Given the description of an element on the screen output the (x, y) to click on. 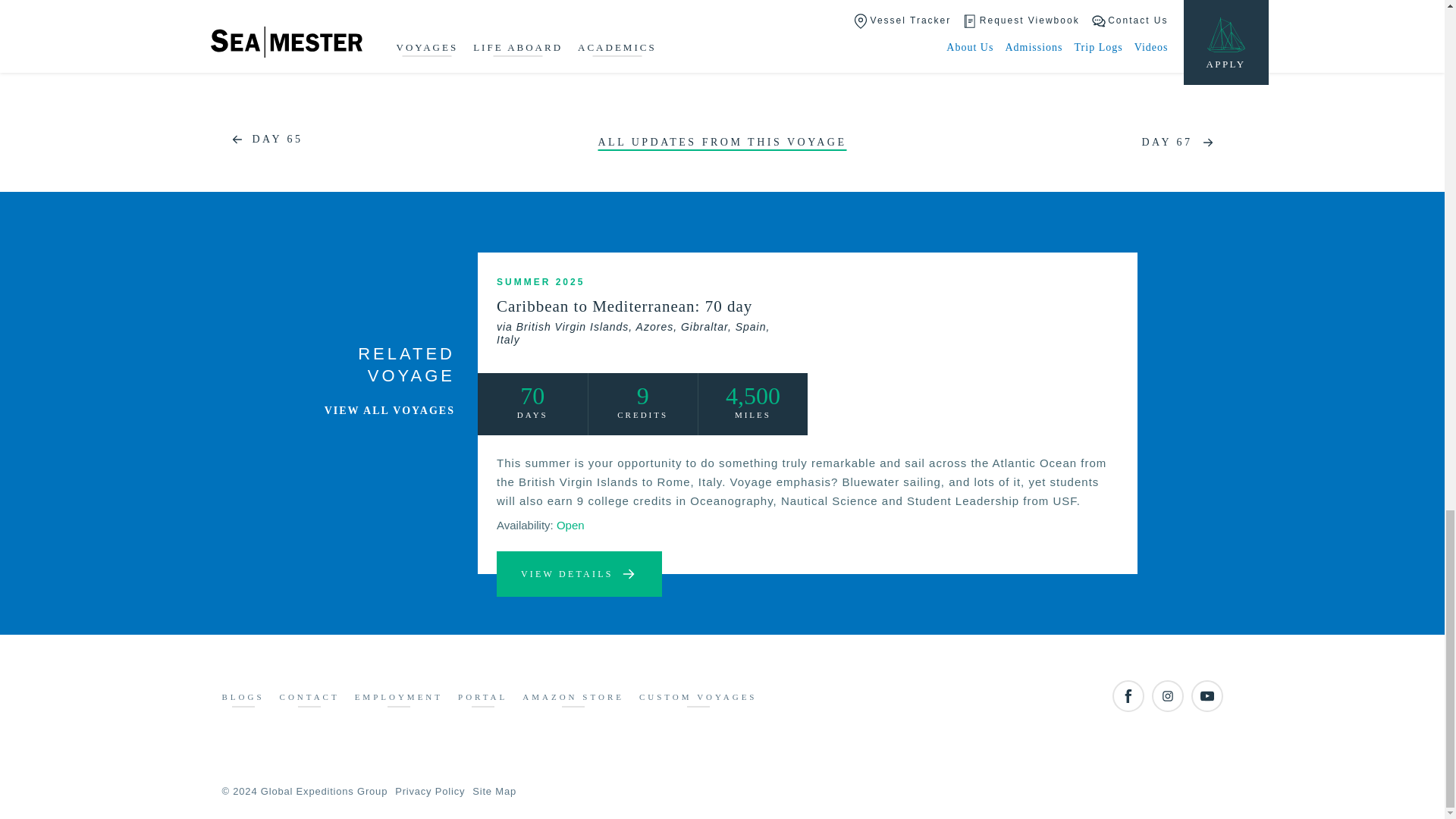
youtube (1207, 695)
DAY 65 (261, 139)
Caribbean to Mediterranean: 70 day (642, 321)
instagram (1166, 695)
DAY 67 (1182, 142)
VIEW ALL VOYAGES (389, 410)
ALL UPDATES FROM THIS VOYAGE (720, 142)
facebook (1127, 695)
